Given the description of an element on the screen output the (x, y) to click on. 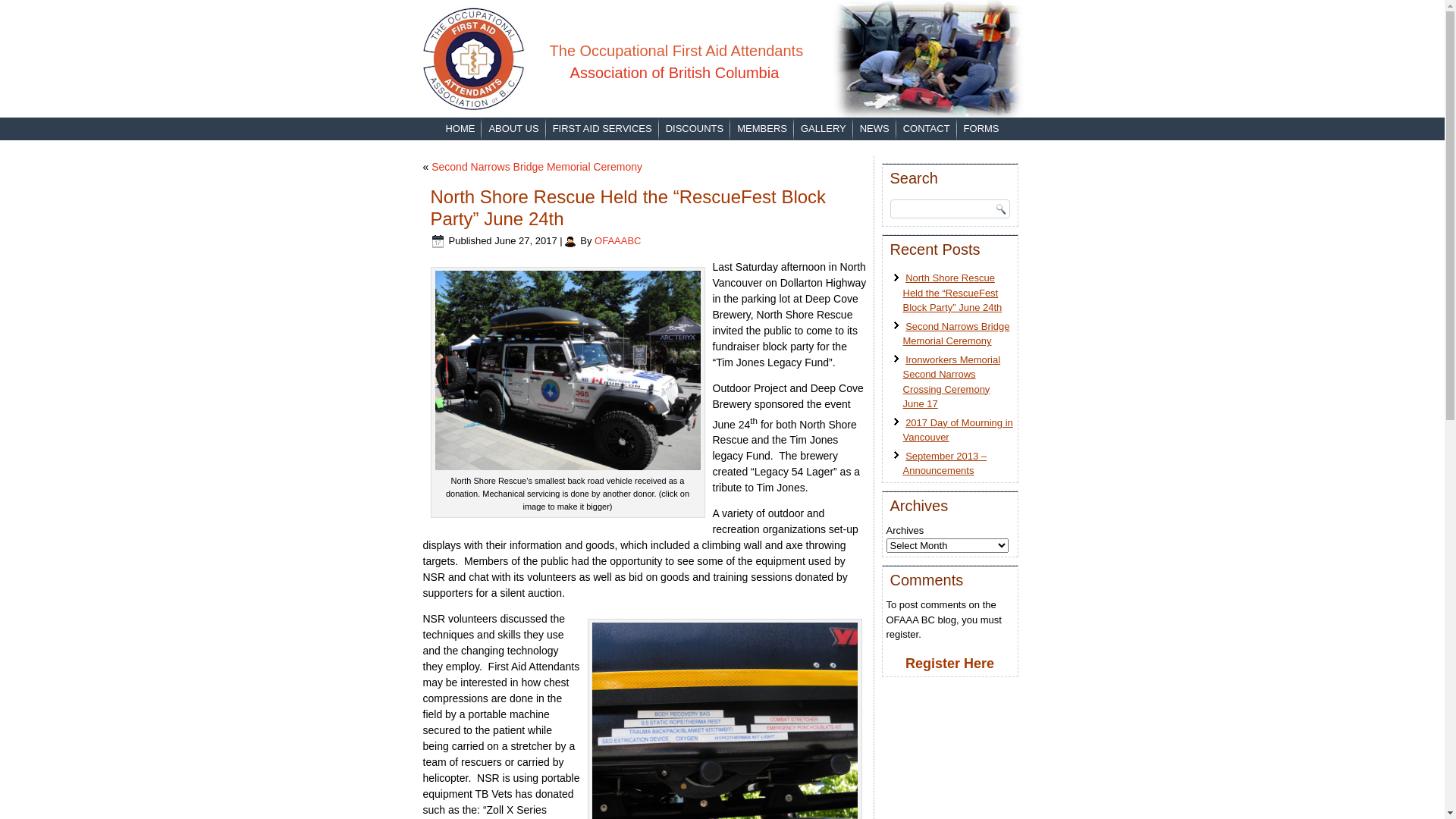
ABOUT US Element type: text (513, 128)
The Occupational First Aid Attendants Element type: text (676, 50)
2017 Day of Mourning in Vancouver Element type: text (957, 430)
NEWS Element type: text (874, 128)
DISCOUNTS Element type: text (694, 128)
Register Here Element type: text (949, 664)
GALLERY Element type: text (823, 128)
CONTACT Element type: text (926, 128)
MEMBERS Element type: text (762, 128)
Second Narrows Bridge Memorial Ceremony Element type: text (536, 166)
Second Narrows Bridge Memorial Ceremony Element type: text (955, 333)
OFAAABC Element type: text (617, 240)
FORMS Element type: text (981, 128)
FIRST AID SERVICES Element type: text (602, 128)
HOME Element type: text (459, 128)
